Given the description of an element on the screen output the (x, y) to click on. 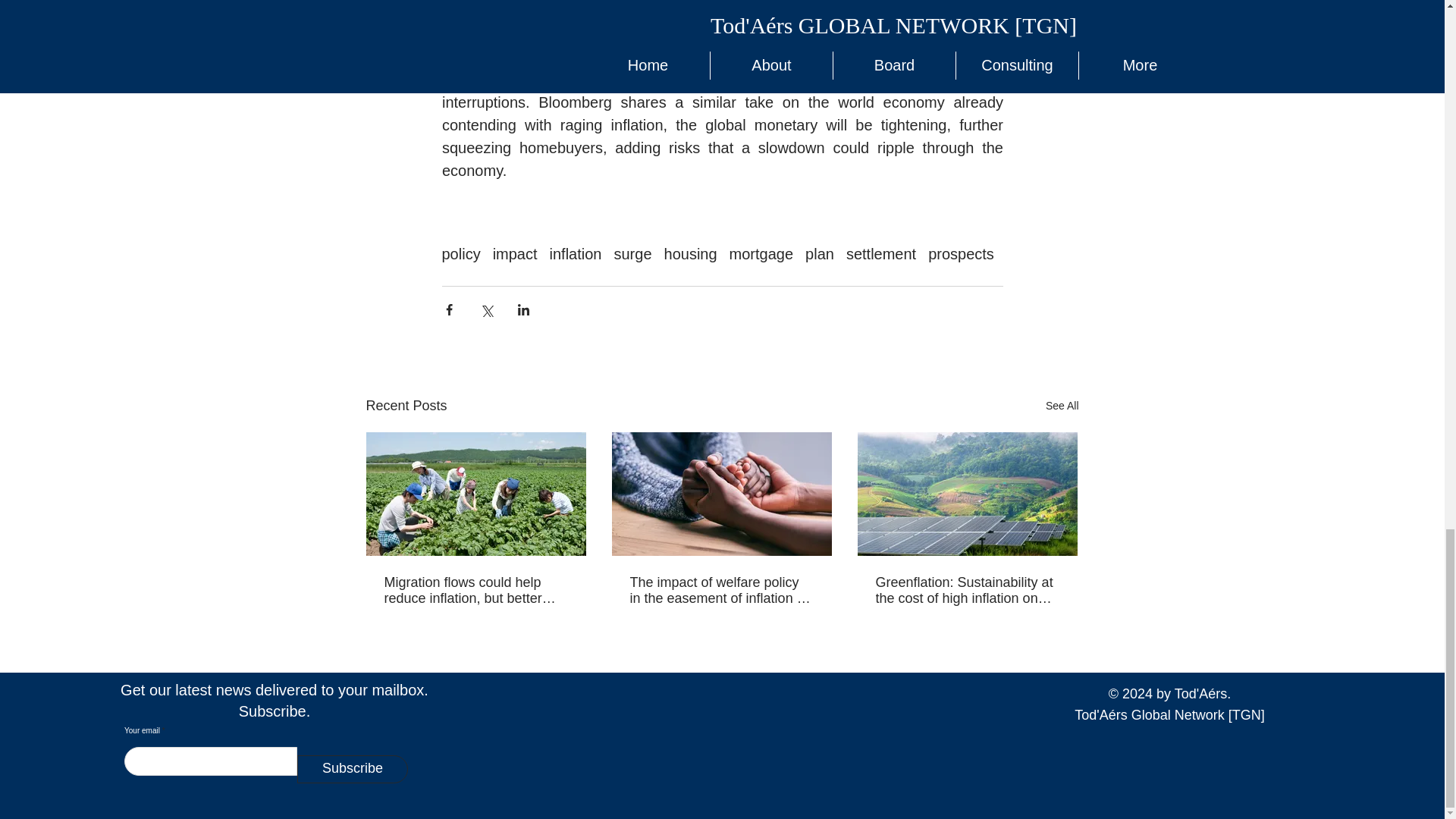
policy (460, 253)
plan (819, 253)
Subscribe (352, 768)
inflation (576, 253)
settlement (880, 253)
surge (631, 253)
housing (690, 253)
prospects (961, 253)
See All (1061, 405)
